Given the description of an element on the screen output the (x, y) to click on. 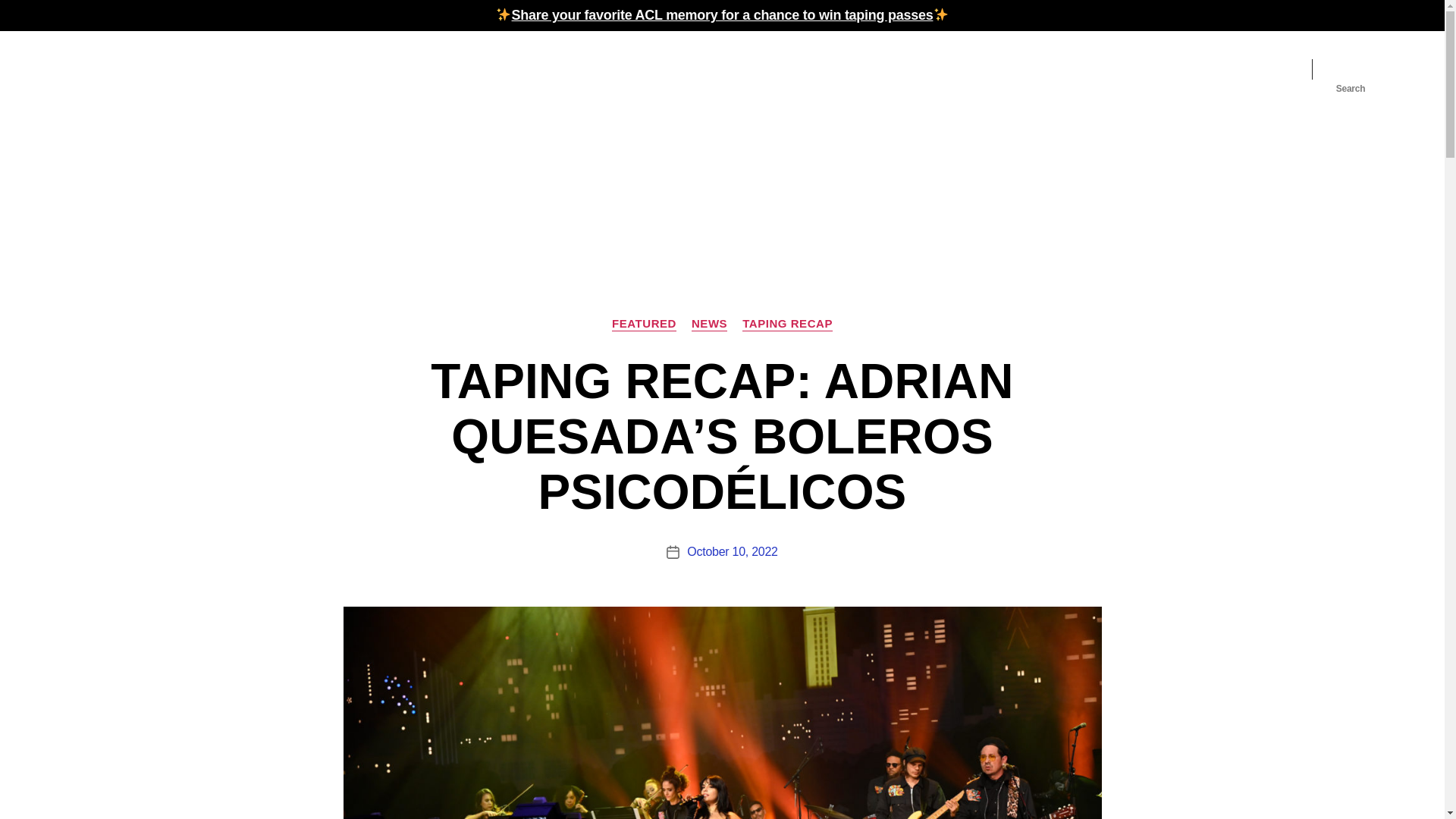
NEWS (708, 324)
Tapings (873, 68)
Watch (1008, 68)
Newsletter (941, 68)
Search (1350, 68)
News (1060, 68)
October 10, 2022 (732, 551)
About (1256, 68)
TAPING RECAP (787, 324)
